Given the description of an element on the screen output the (x, y) to click on. 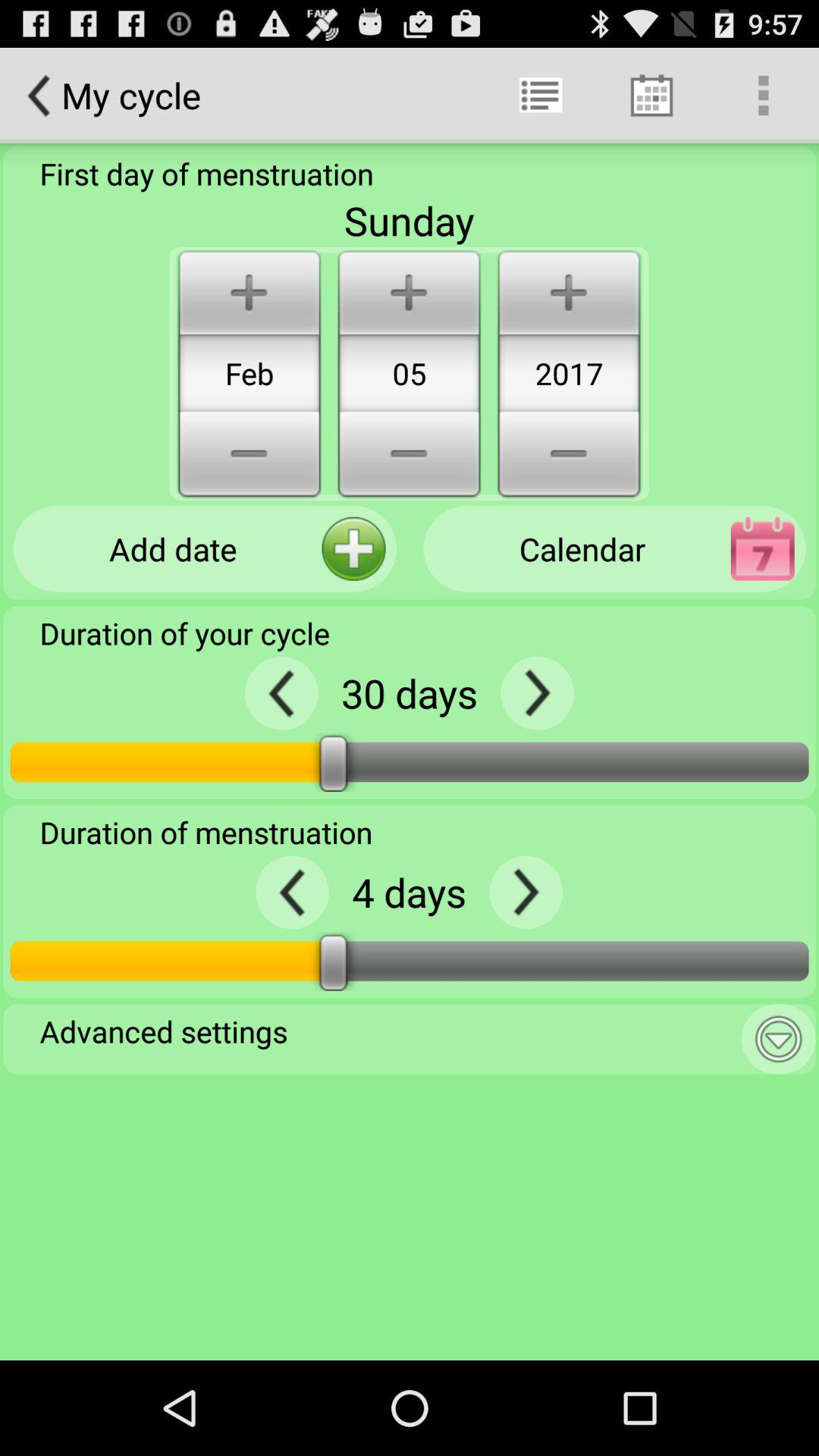
preview (281, 693)
